Given the description of an element on the screen output the (x, y) to click on. 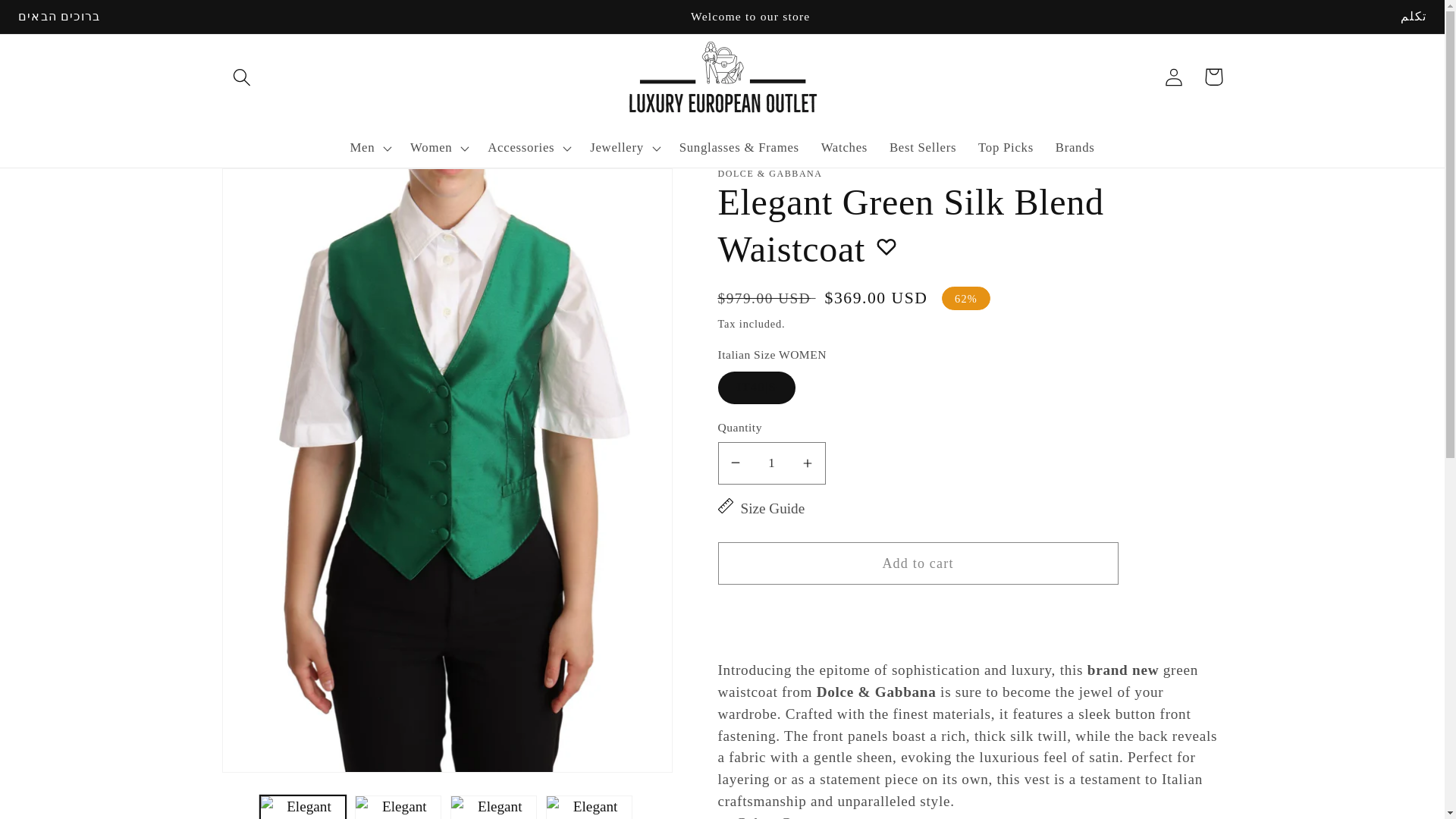
1 (771, 462)
Skip to content (55, 20)
